Given the description of an element on the screen output the (x, y) to click on. 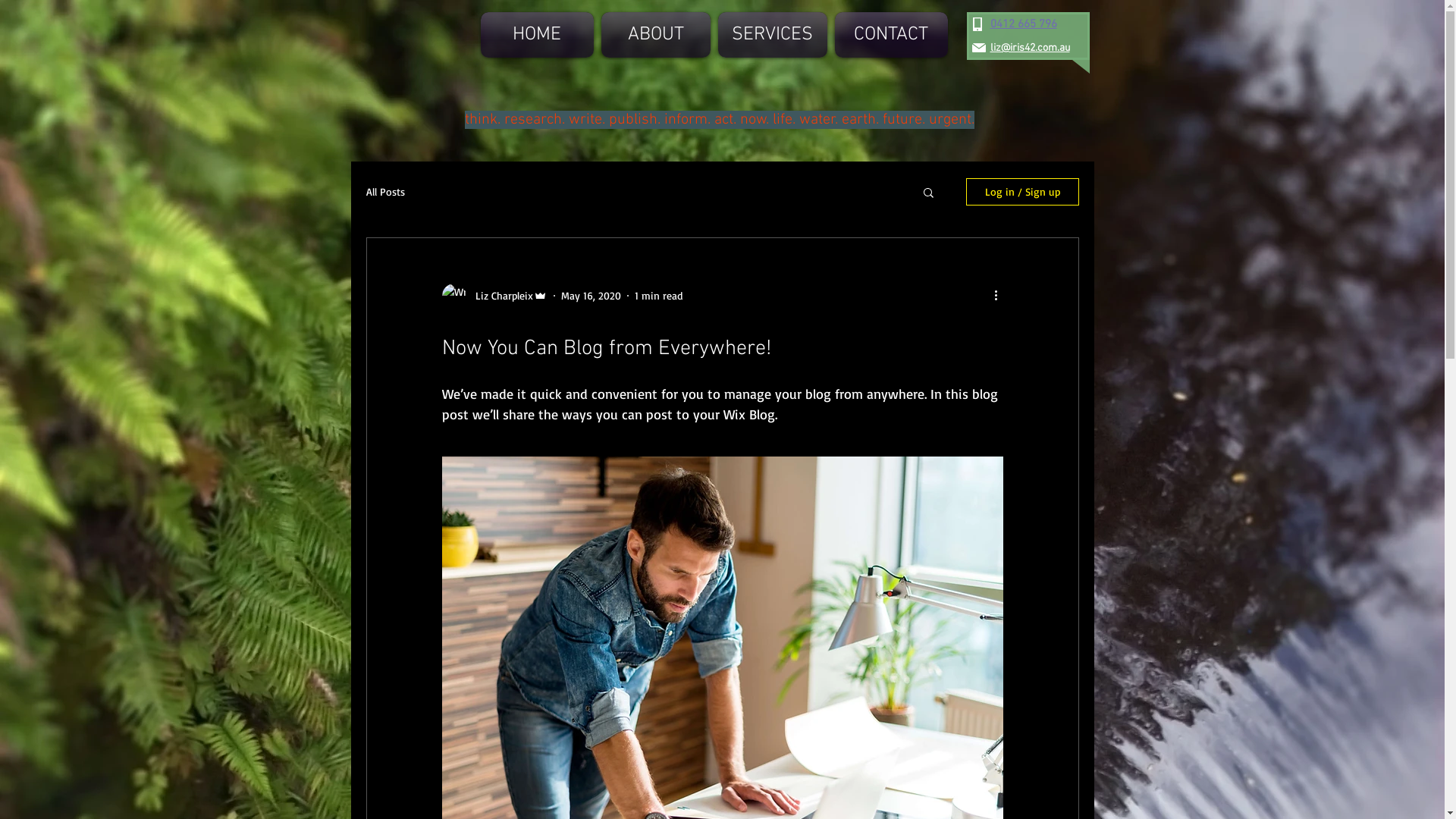
CONTACT Element type: text (889, 34)
ABOUT Element type: text (655, 34)
0412 665 796 Element type: text (1023, 24)
liz@iris42.com.au Element type: text (1030, 47)
All Posts Element type: text (384, 191)
Log in / Sign up Element type: text (1022, 191)
SERVICES Element type: text (772, 34)
HOME Element type: text (538, 34)
